Given the description of an element on the screen output the (x, y) to click on. 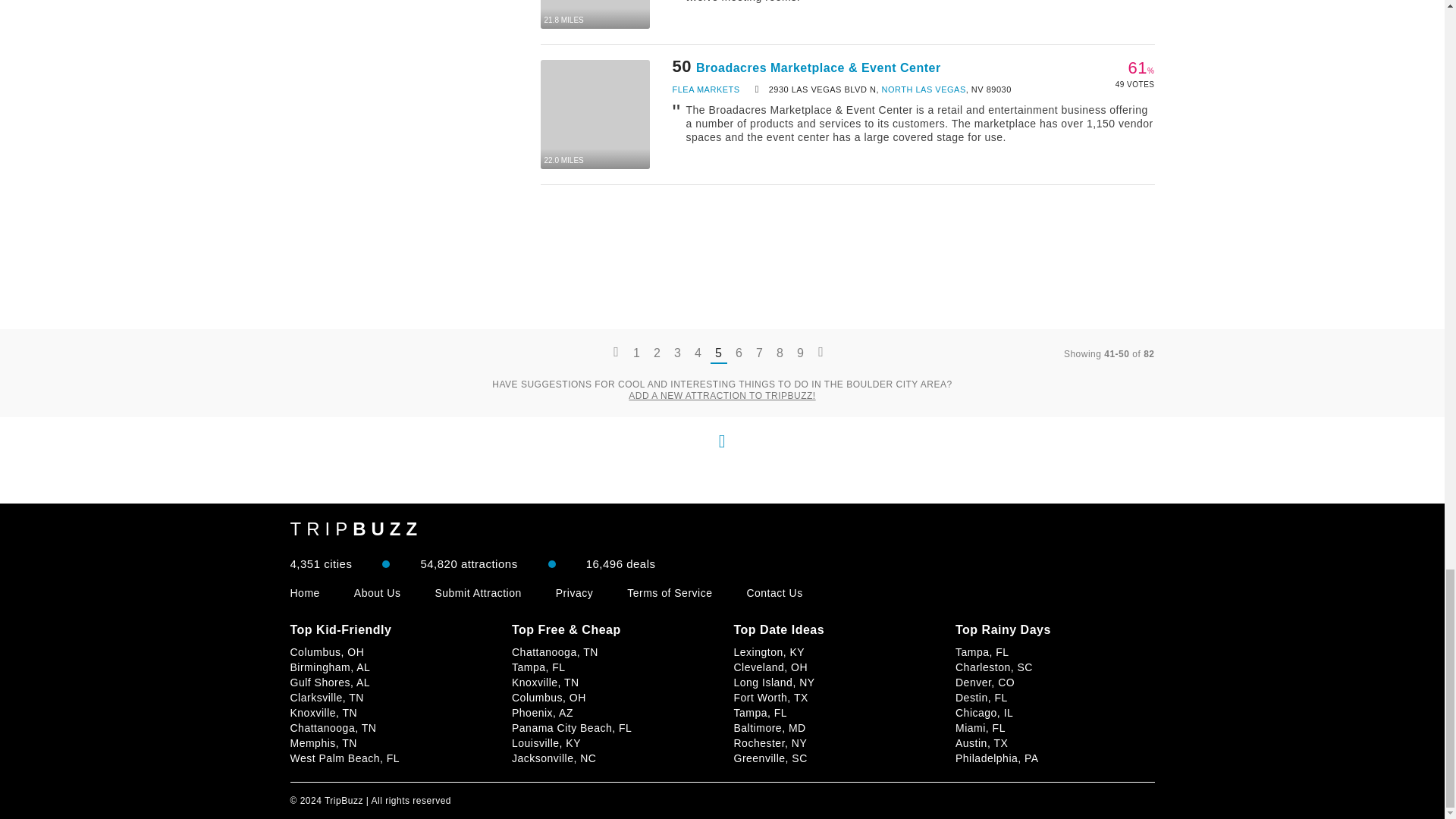
Privacy (574, 592)
Terms of Service (669, 592)
About (377, 592)
